Given the description of an element on the screen output the (x, y) to click on. 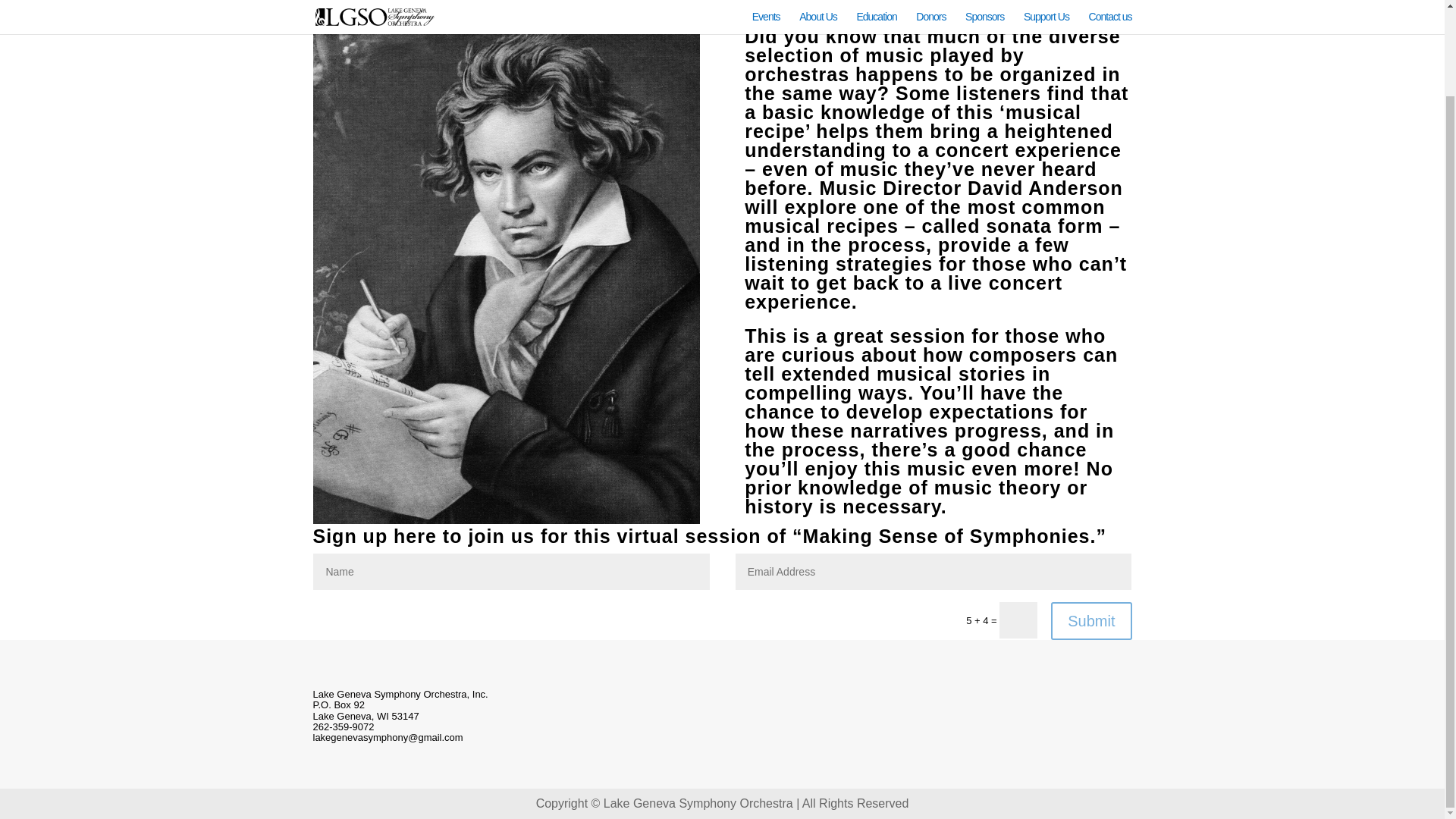
262-359-9072 (343, 726)
Submit (1091, 620)
